Given the description of an element on the screen output the (x, y) to click on. 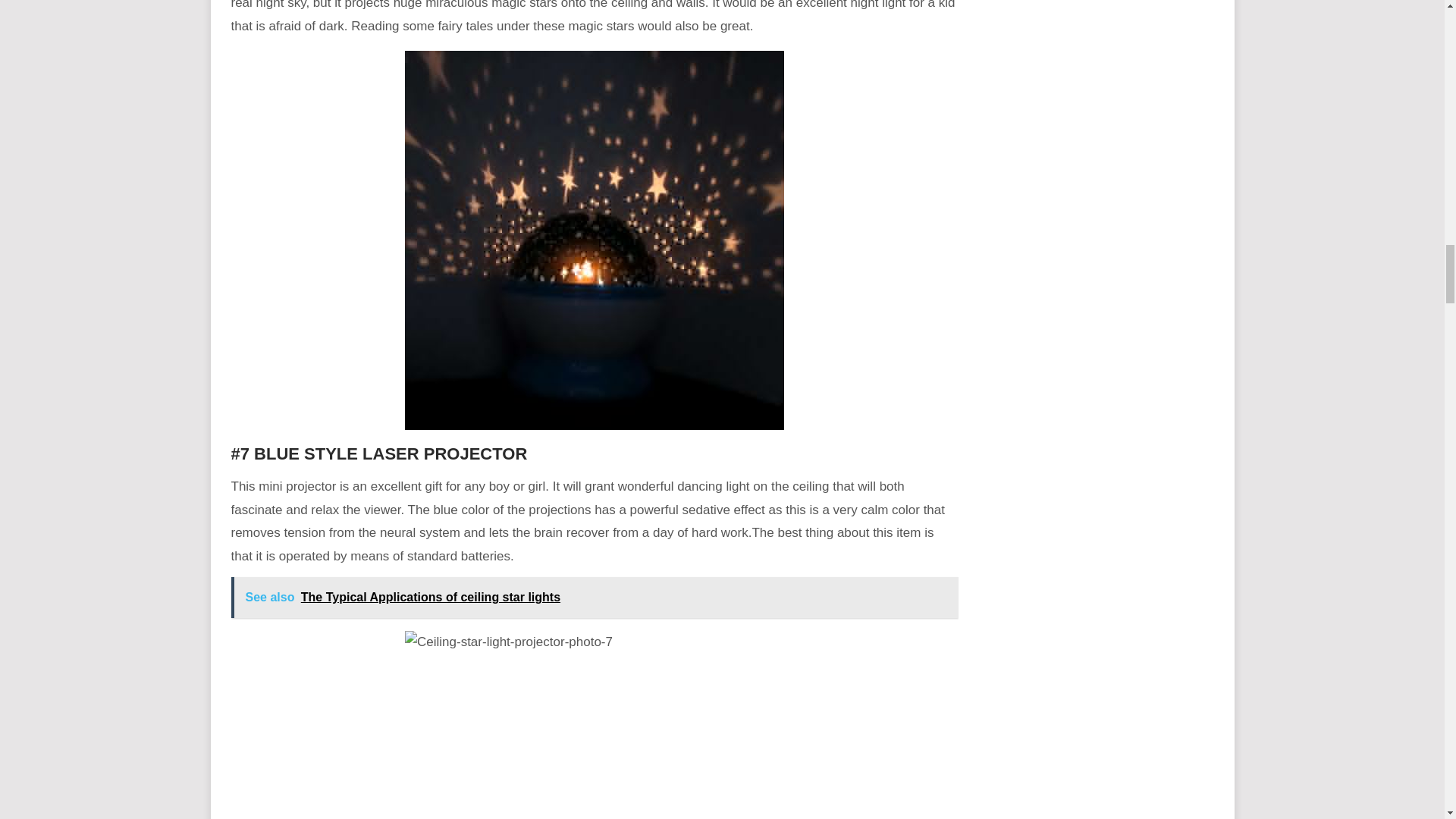
See also  The Typical Applications of ceiling star lights (594, 597)
